Given the description of an element on the screen output the (x, y) to click on. 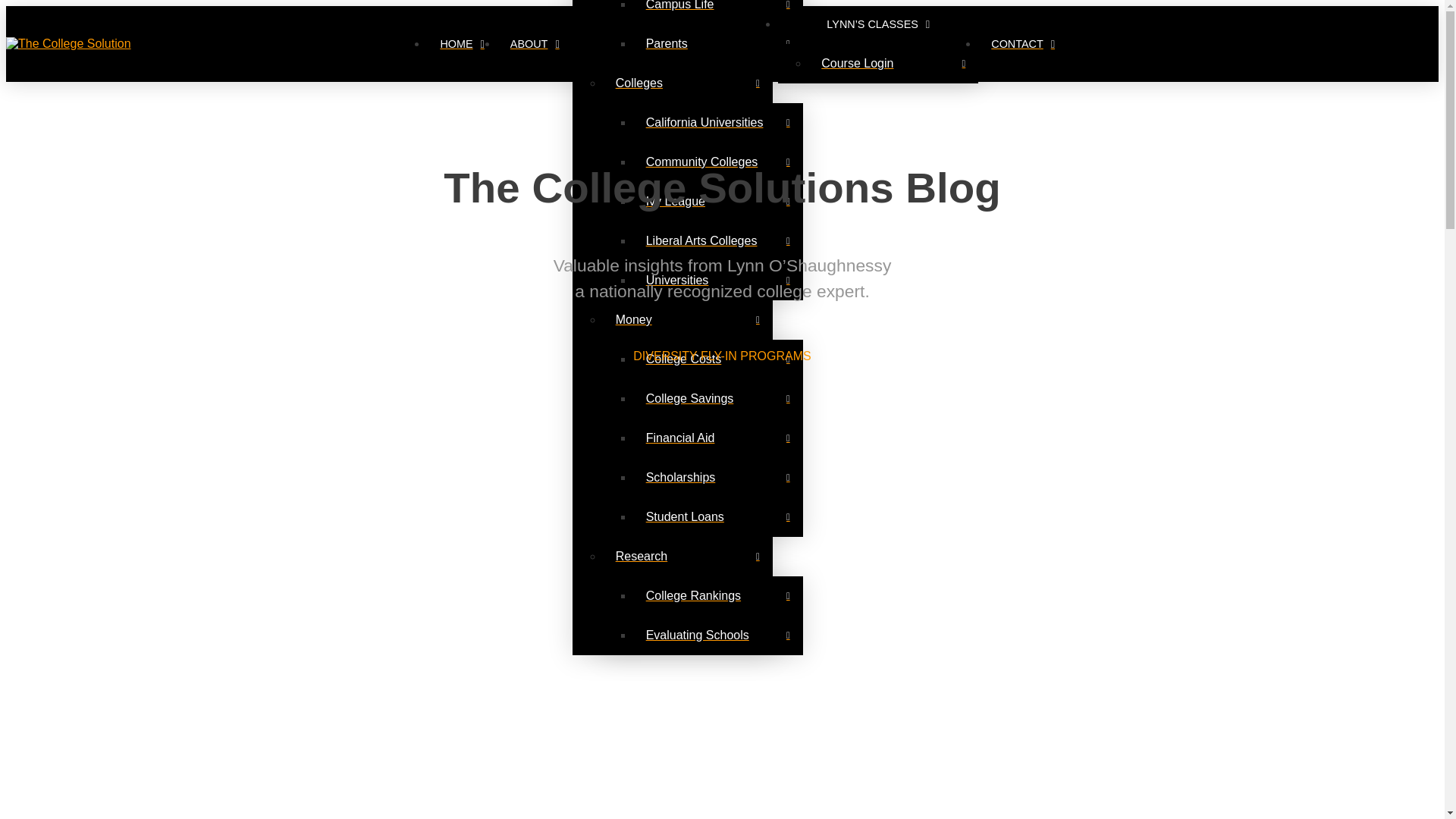
California Universities (718, 122)
College Savings (718, 398)
HOME (461, 43)
Money (687, 319)
Evaluating Schools (718, 635)
Course Login (893, 63)
Parents (718, 43)
Ivy League (718, 201)
Financial Aid (718, 437)
Universities (718, 280)
